Given the description of an element on the screen output the (x, y) to click on. 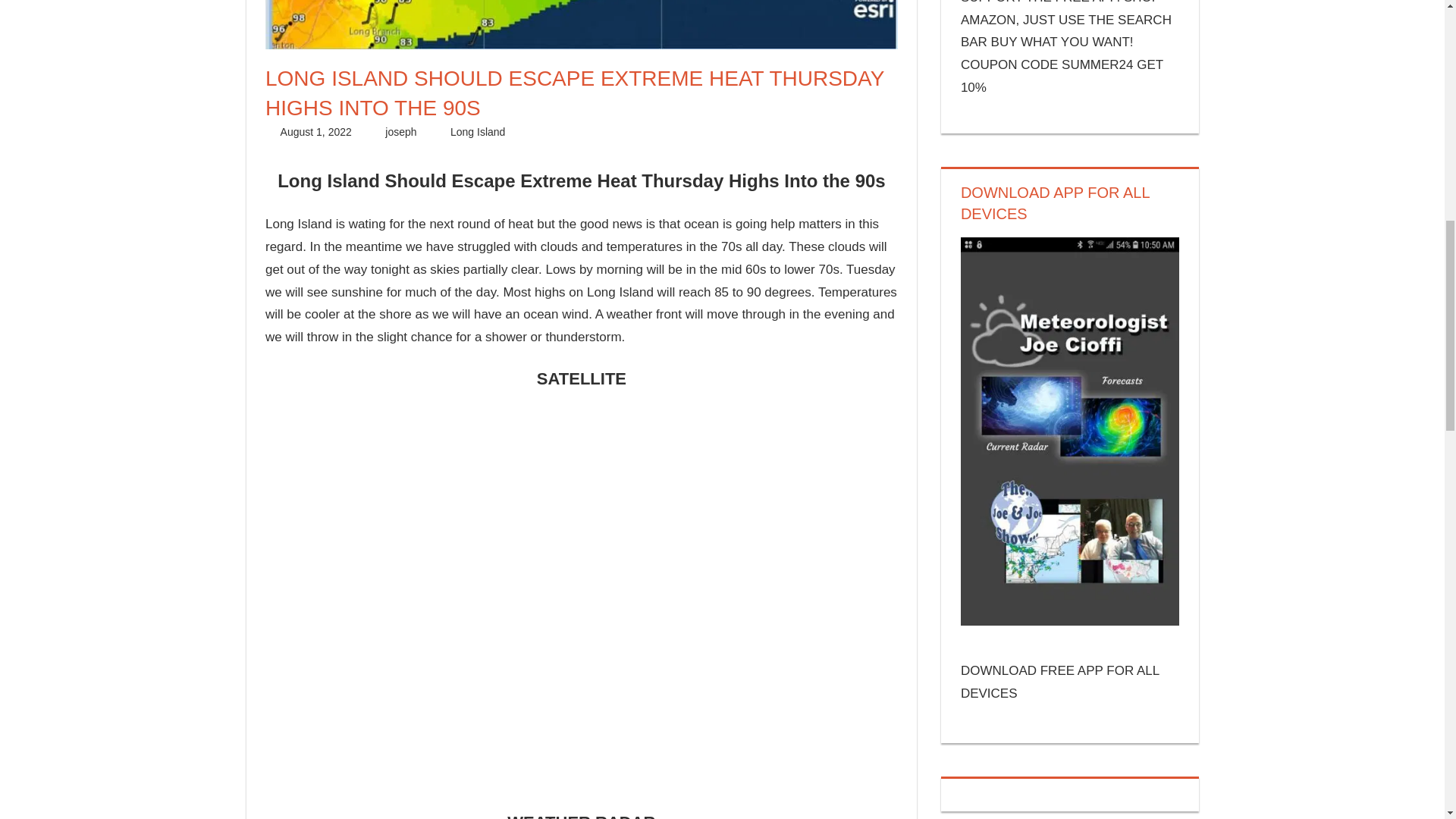
Long Island (477, 132)
joseph (400, 132)
August 1, 2022 (316, 132)
View all posts by joseph (400, 132)
3:13 pm (316, 132)
